Given the description of an element on the screen output the (x, y) to click on. 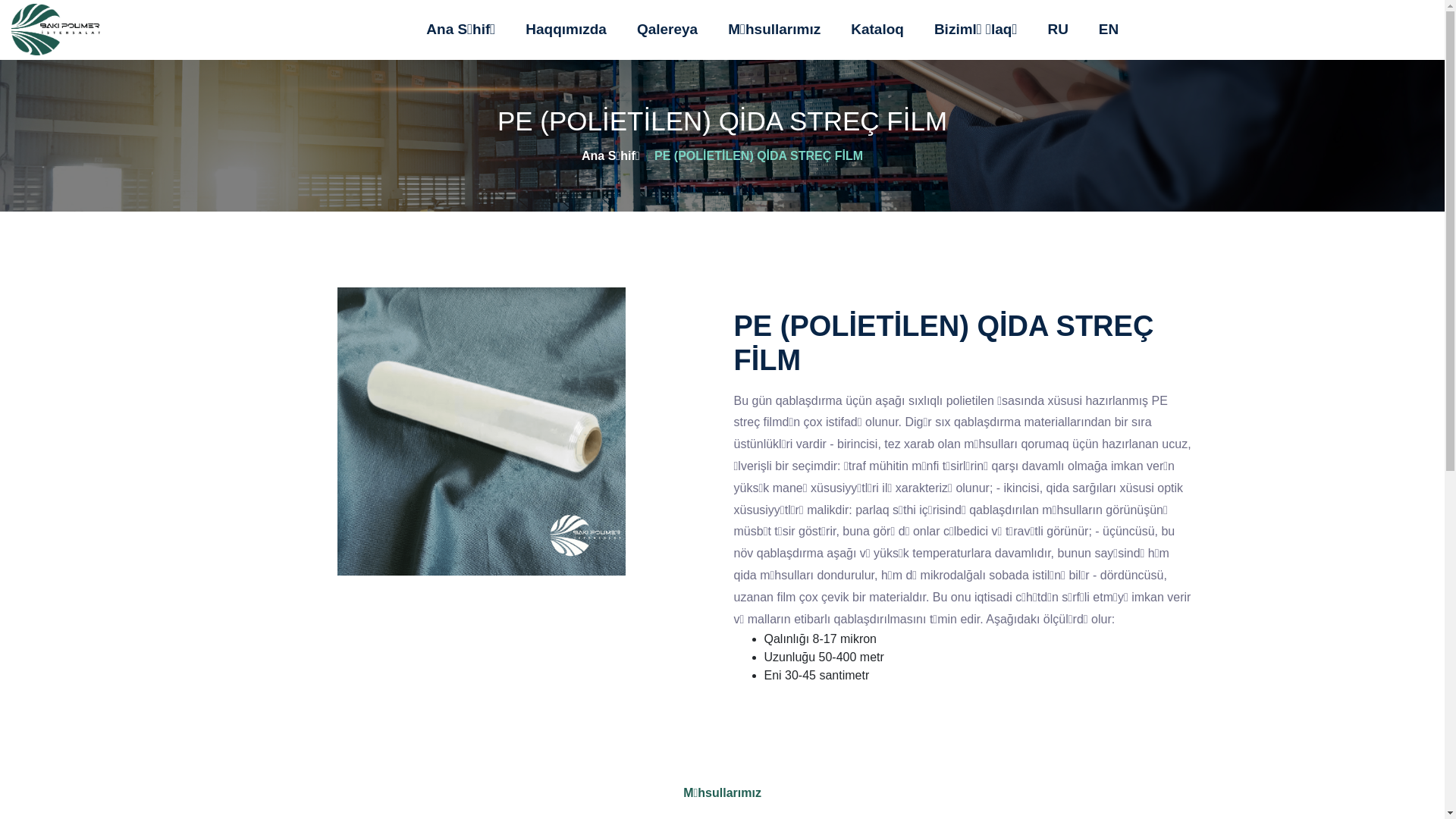
Qalereya Element type: text (667, 29)
RU Element type: text (1057, 29)
Kataloq Element type: text (876, 29)
EN Element type: text (1108, 29)
